Given the description of an element on the screen output the (x, y) to click on. 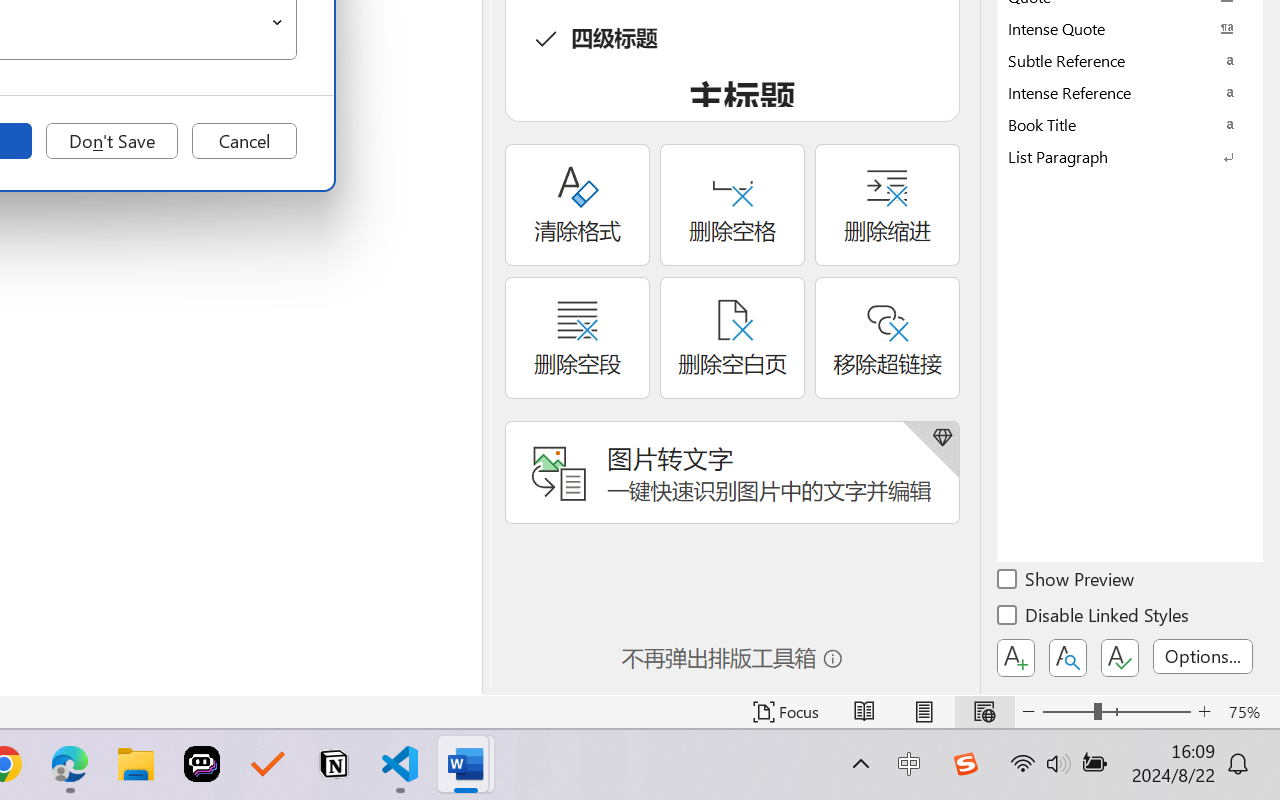
Options... (1203, 656)
Book Title (1130, 124)
Don't Save (111, 141)
Class: NetUIButton (1119, 657)
Class: Image (965, 764)
Class: NetUIImage (1116, 156)
Web Layout (984, 712)
Zoom (1116, 712)
